Given the description of an element on the screen output the (x, y) to click on. 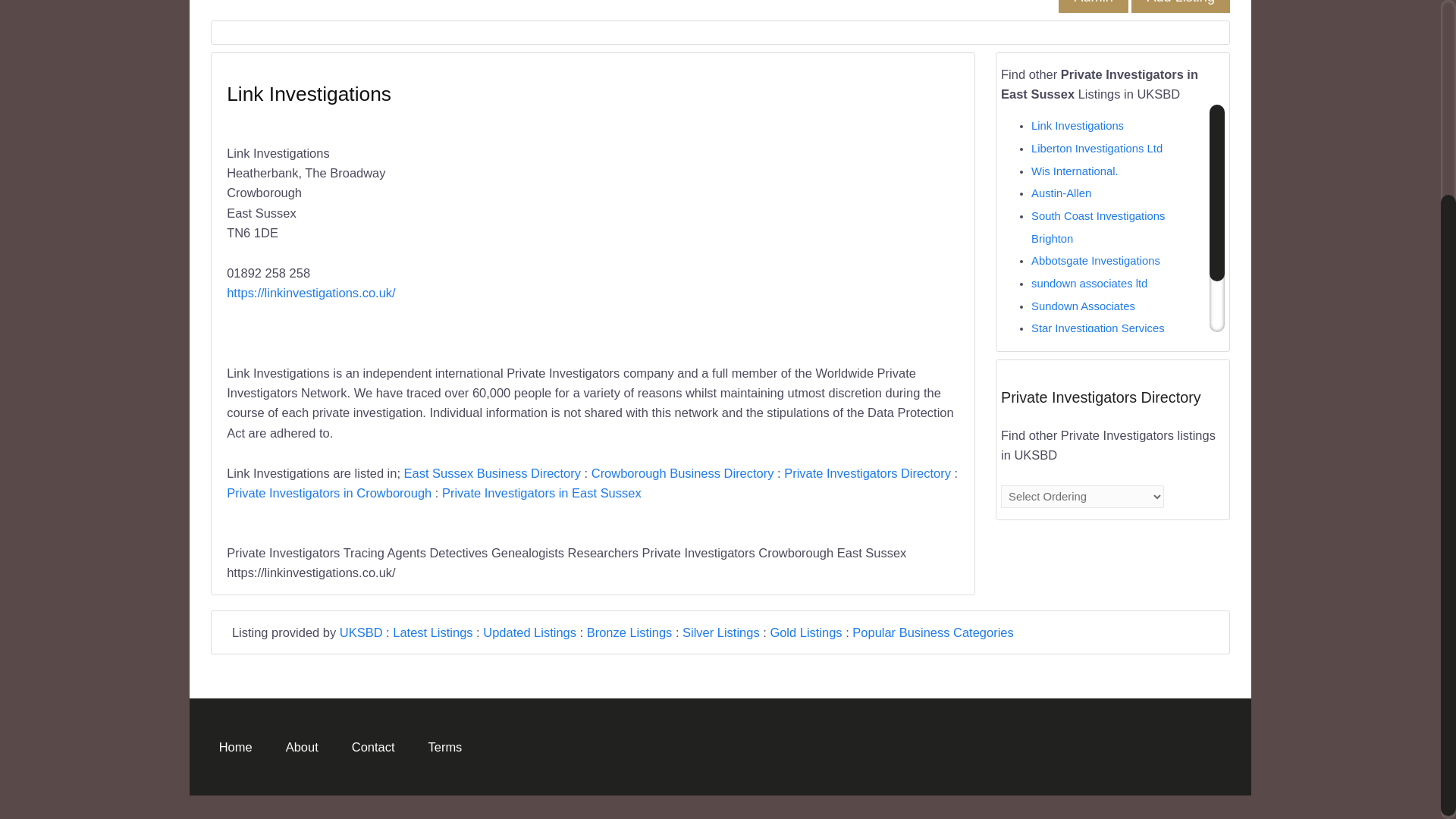
Add Listing (1180, 39)
Private Investigators Directory (867, 515)
East Sussex Business Directory (492, 515)
Crowborough Business Directory (682, 515)
Admin (1092, 38)
About (302, 773)
sundown associates ltd (1088, 326)
Liberton Investigations Ltd (1095, 191)
Link investigations. (1077, 393)
Wis International. (1074, 214)
